Given the description of an element on the screen output the (x, y) to click on. 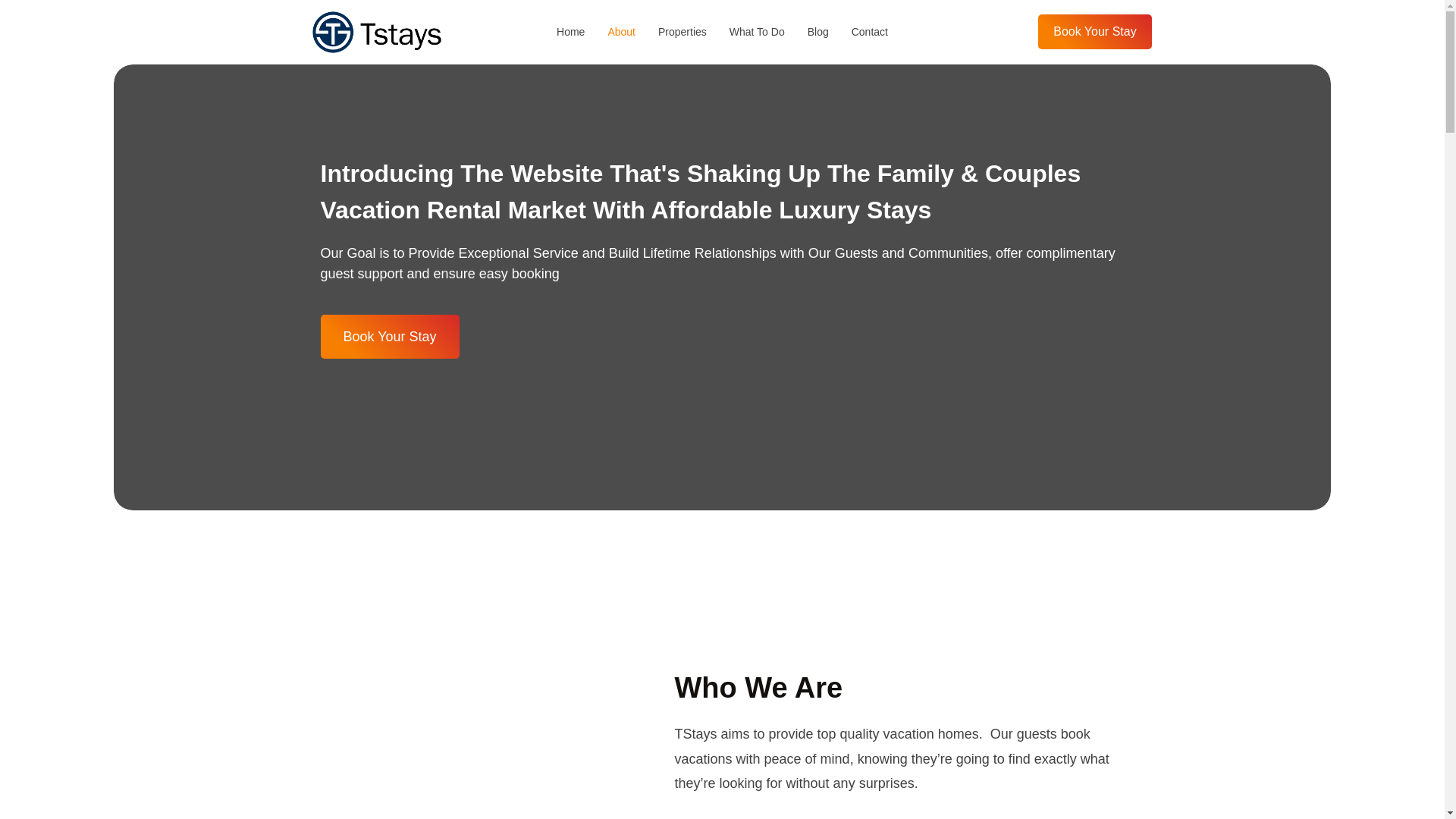
Blog (818, 31)
Home (570, 31)
Contact (869, 31)
About (620, 31)
Book Your Stay (389, 336)
What To Do (756, 31)
Properties (682, 31)
Book Your Stay (1094, 31)
